Given the description of an element on the screen output the (x, y) to click on. 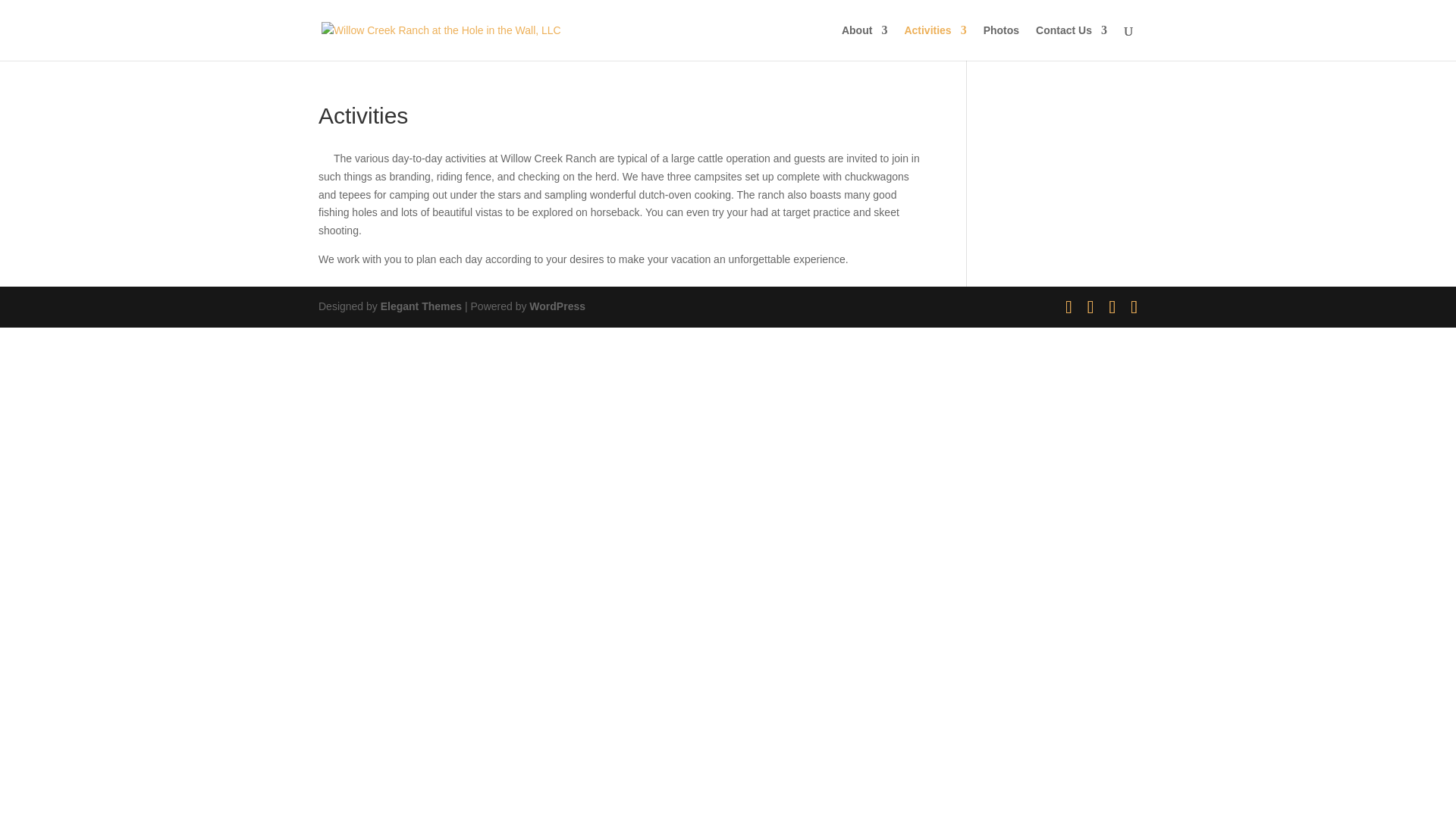
Premium WordPress Themes (420, 306)
Photos (1001, 42)
Activities (935, 42)
Contact Us (1070, 42)
WordPress (557, 306)
About (863, 42)
Elegant Themes (420, 306)
